Given the description of an element on the screen output the (x, y) to click on. 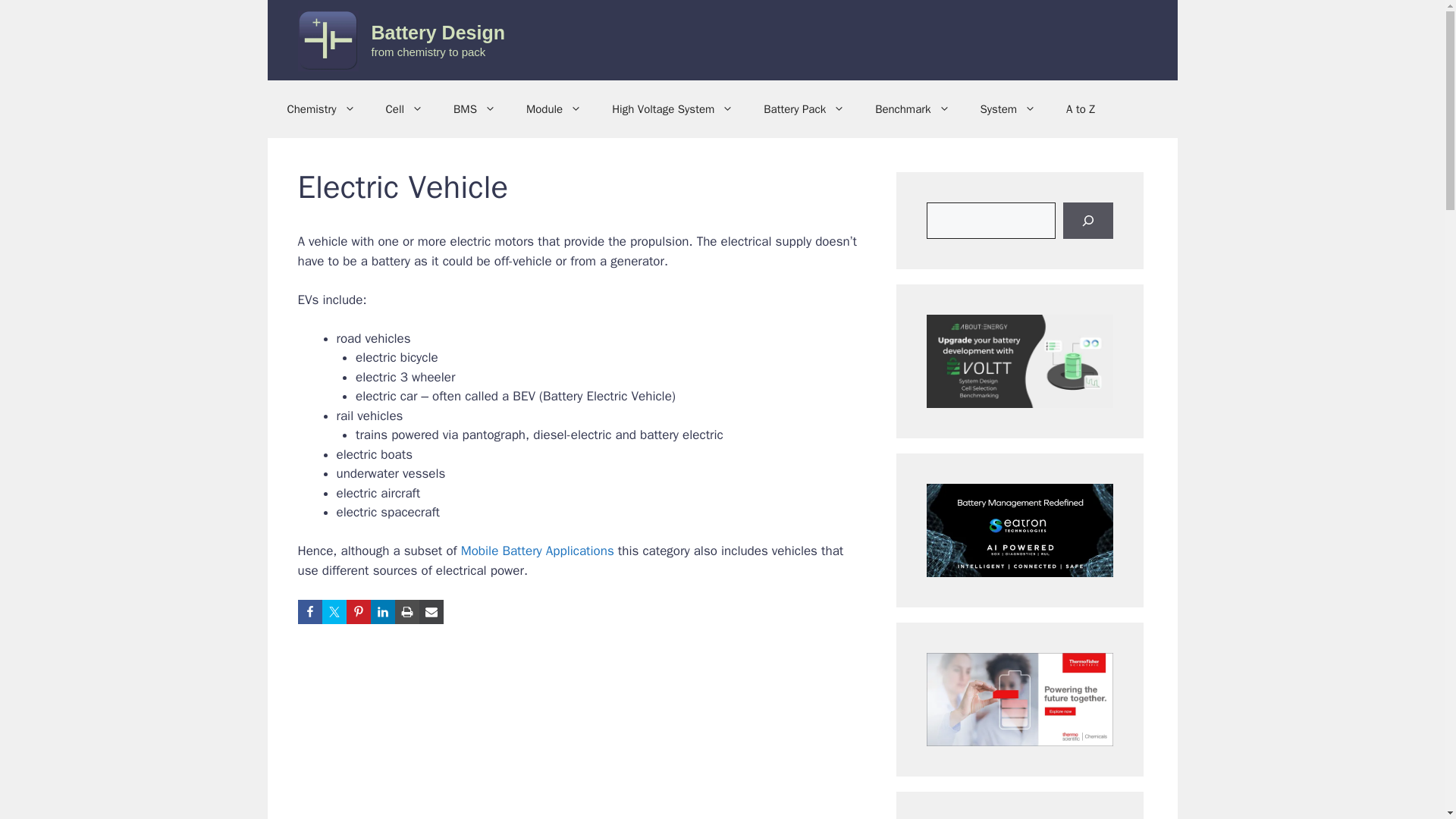
Share on Pinterest (357, 611)
Share via Email (430, 611)
Battery Pack (804, 109)
High Voltage System (672, 109)
Share on LinkedIn (381, 611)
Share on Facebook (309, 611)
Module (553, 109)
BMS (474, 109)
Chemistry (319, 109)
Share on Twitter (333, 611)
